Given the description of an element on the screen output the (x, y) to click on. 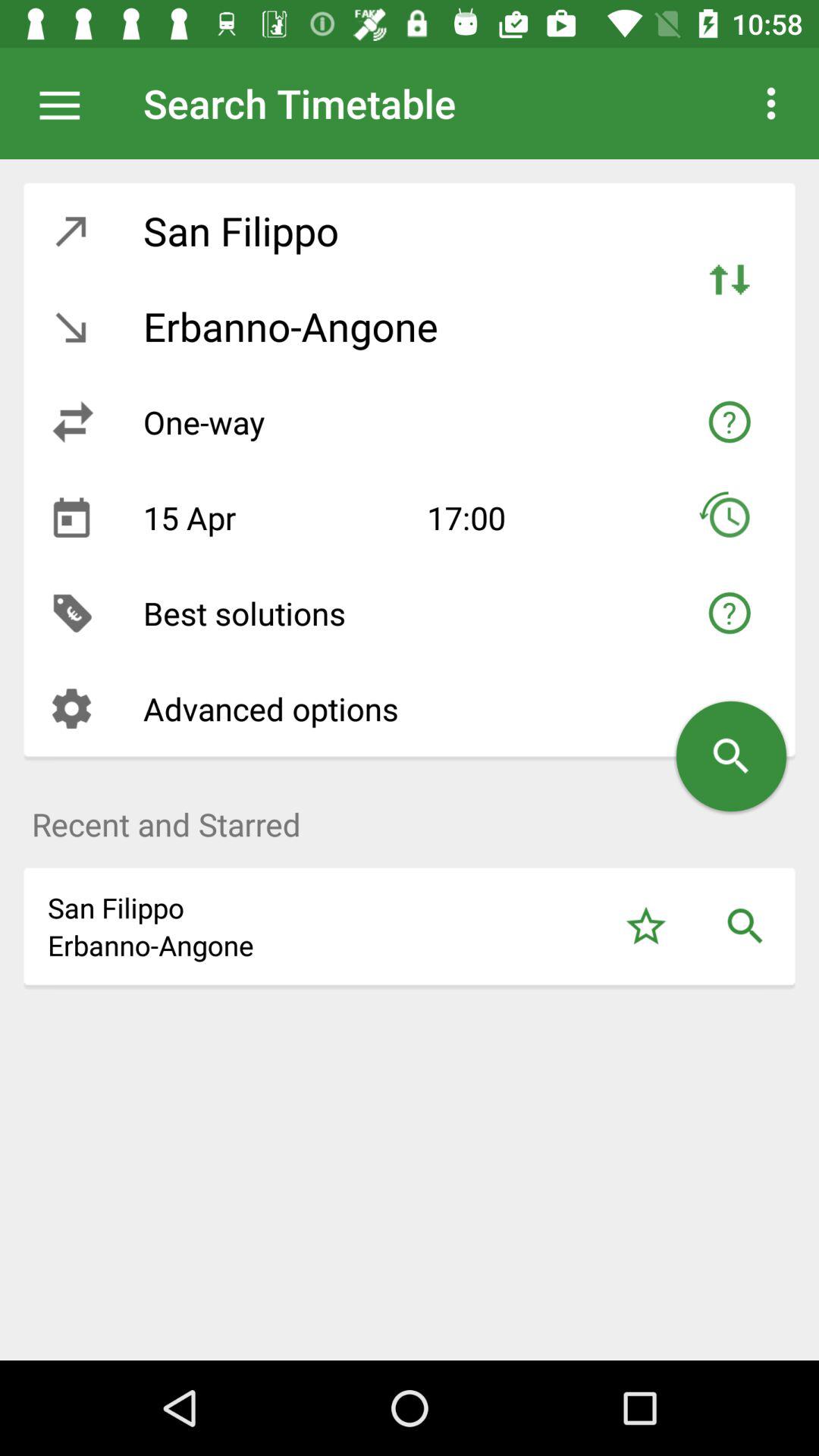
launch icon next to 17:00 icon (273, 517)
